Given the description of an element on the screen output the (x, y) to click on. 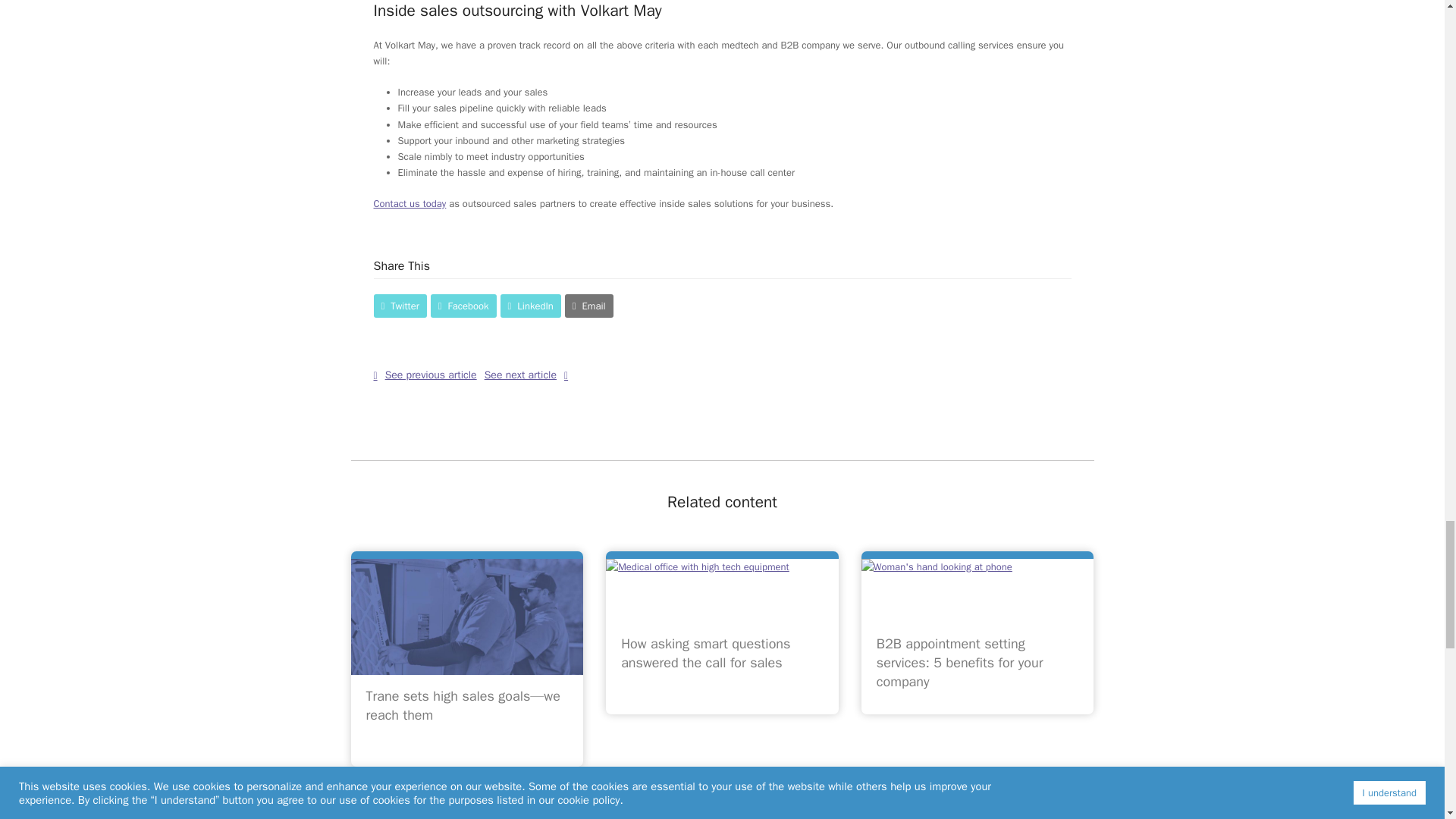
View all articles (722, 811)
Twitter (399, 305)
Contact us today (408, 203)
How asking smart questions answered the call for sales (705, 652)
See previous article (424, 375)
Facebook (463, 305)
See next article (525, 375)
Email (588, 305)
LinkedIn (530, 305)
